Given the description of an element on the screen output the (x, y) to click on. 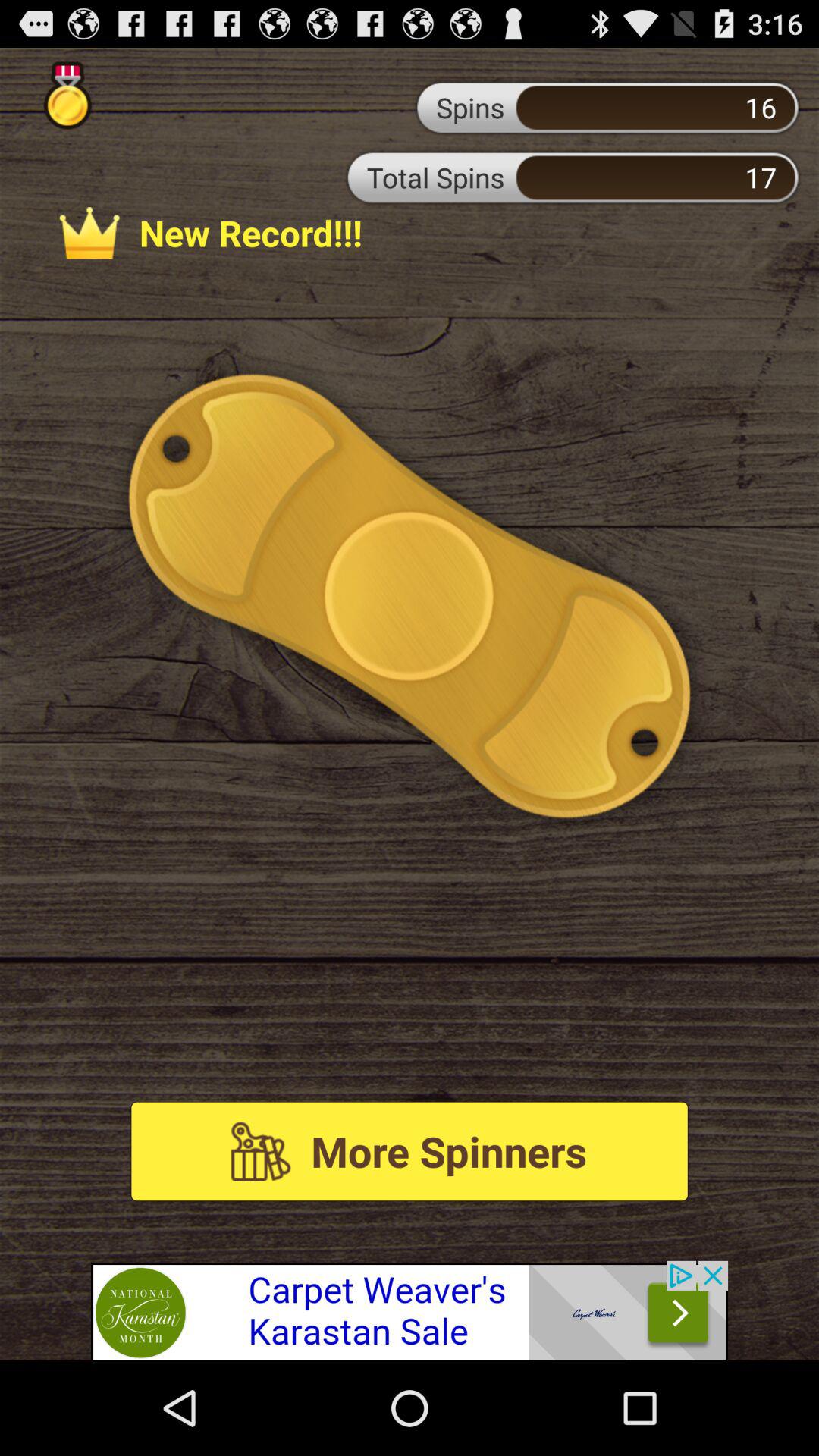
advertisement about carpet weaver 's kaarastan sale (409, 1310)
